Given the description of an element on the screen output the (x, y) to click on. 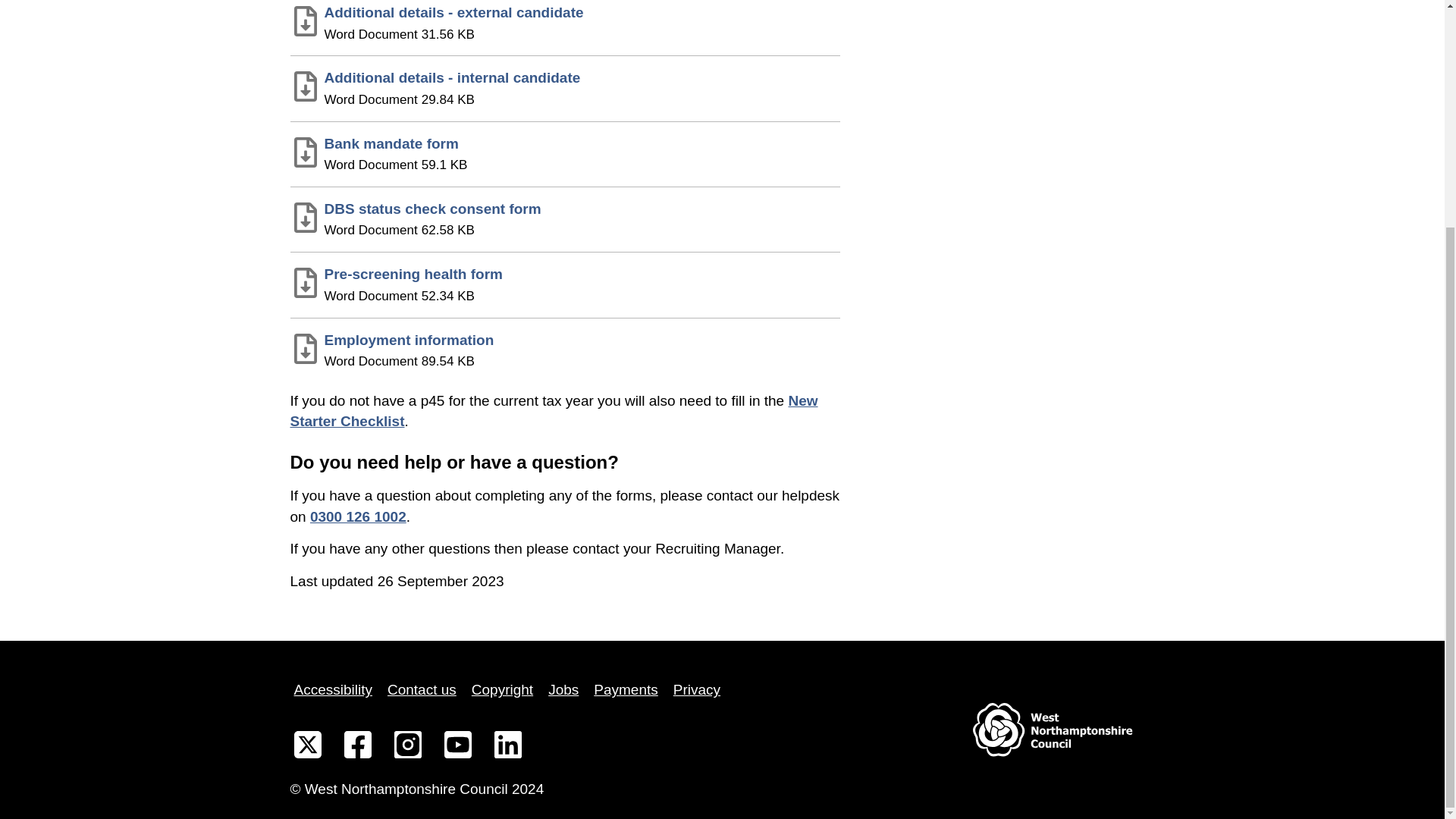
Privacy (696, 689)
Contact us (564, 148)
Copyright (422, 689)
Jobs (502, 689)
Copyright (563, 689)
0300 126 1002 (502, 689)
New Starter Checklist (358, 516)
